Given the description of an element on the screen output the (x, y) to click on. 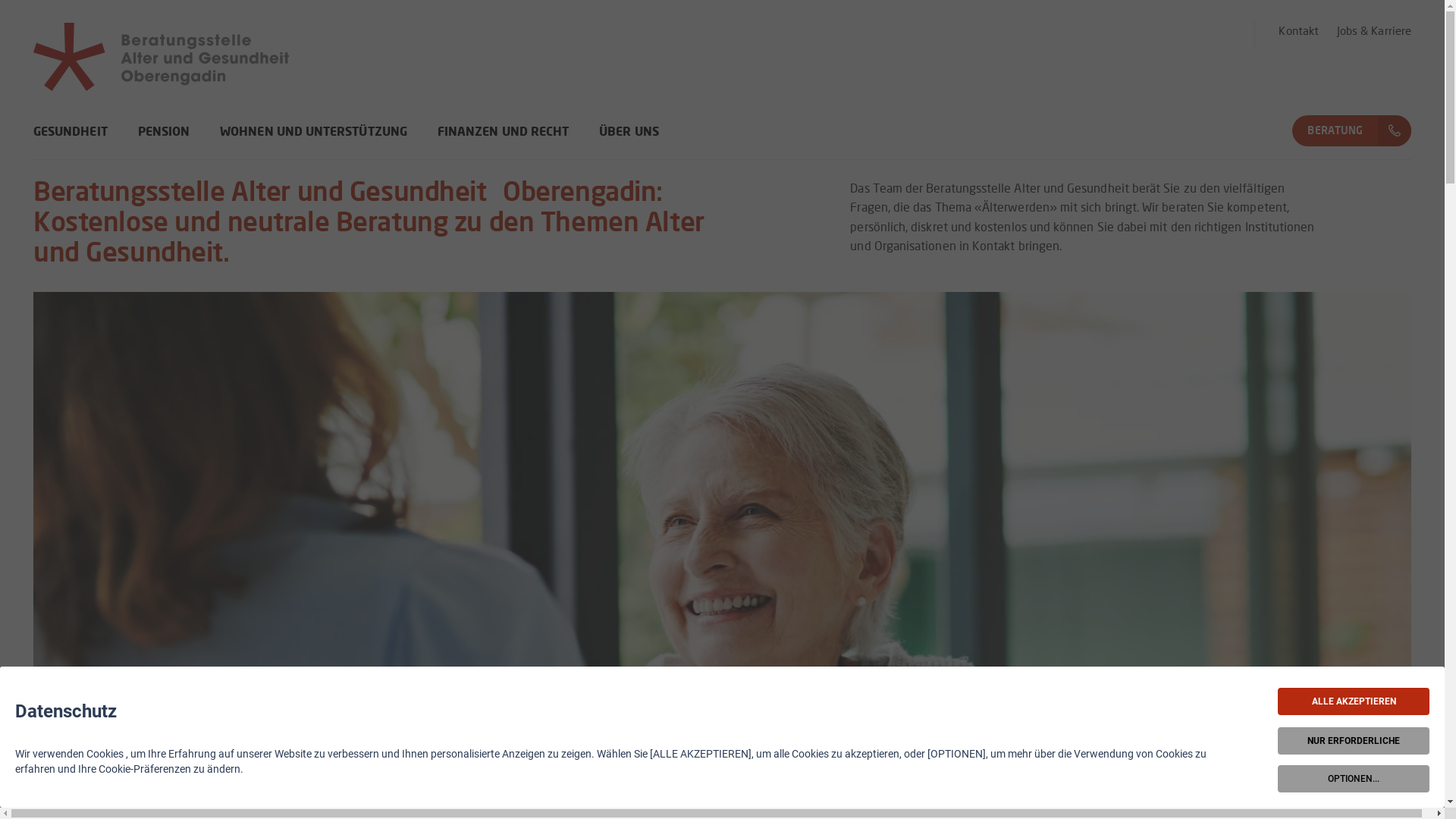
BERATUNG Element type: text (1334, 130)
Kontakt Element type: text (1298, 31)
PENSION Element type: text (164, 142)
OPTIONEN... Element type: text (1353, 778)
NUR ERFORDERLICHE Element type: text (1353, 740)
FINANZEN UND RECHT Element type: text (502, 142)
GESUNDHEIT Element type: text (70, 142)
ALLE AKZEPTIEREN Element type: text (1353, 701)
Jobs & Karriere Element type: text (1373, 31)
